Given the description of an element on the screen output the (x, y) to click on. 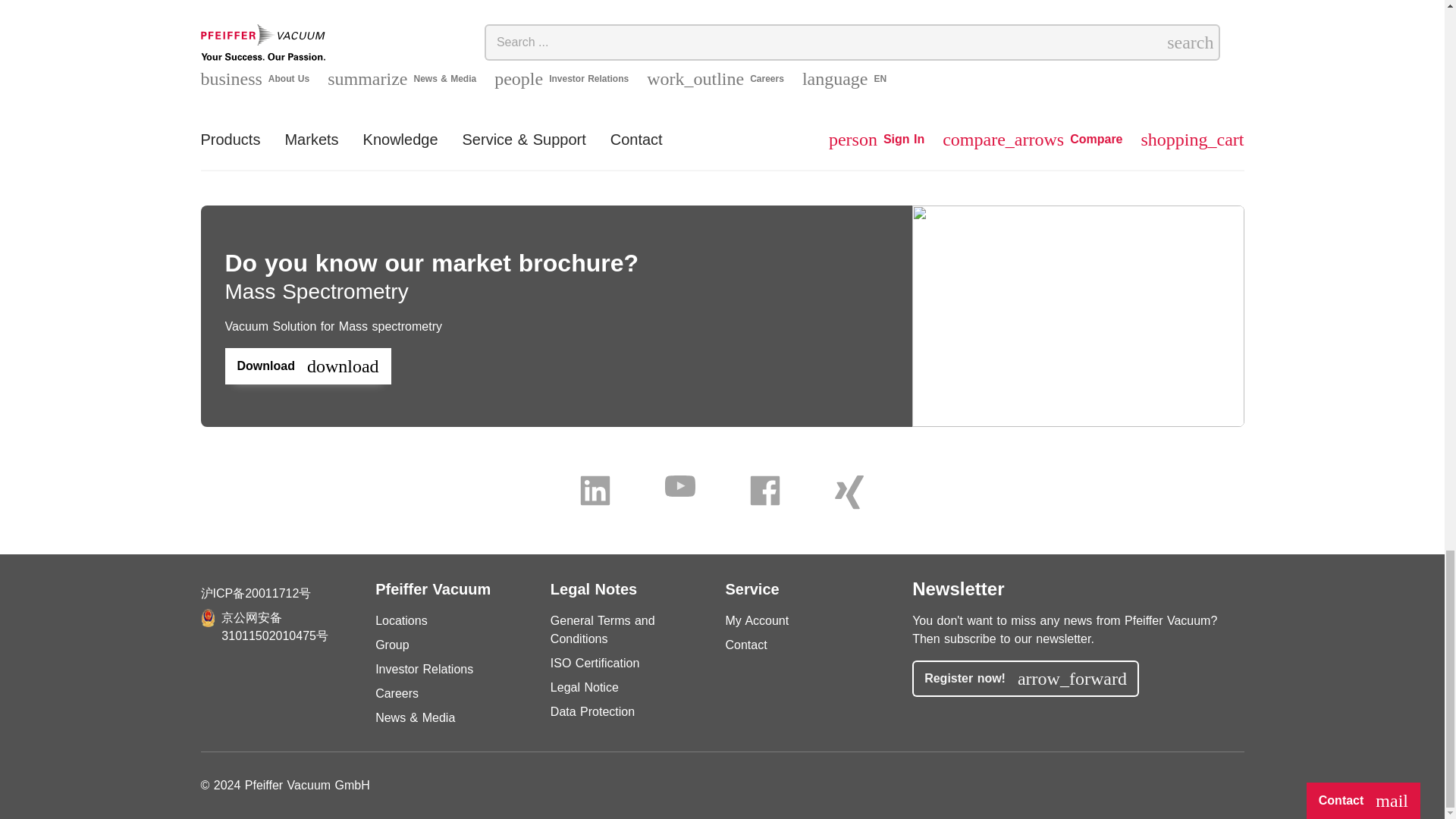
Locations (401, 620)
download (307, 366)
download (295, 66)
download (908, 66)
download (1113, 66)
download (1317, 66)
download (704, 66)
